Given the description of an element on the screen output the (x, y) to click on. 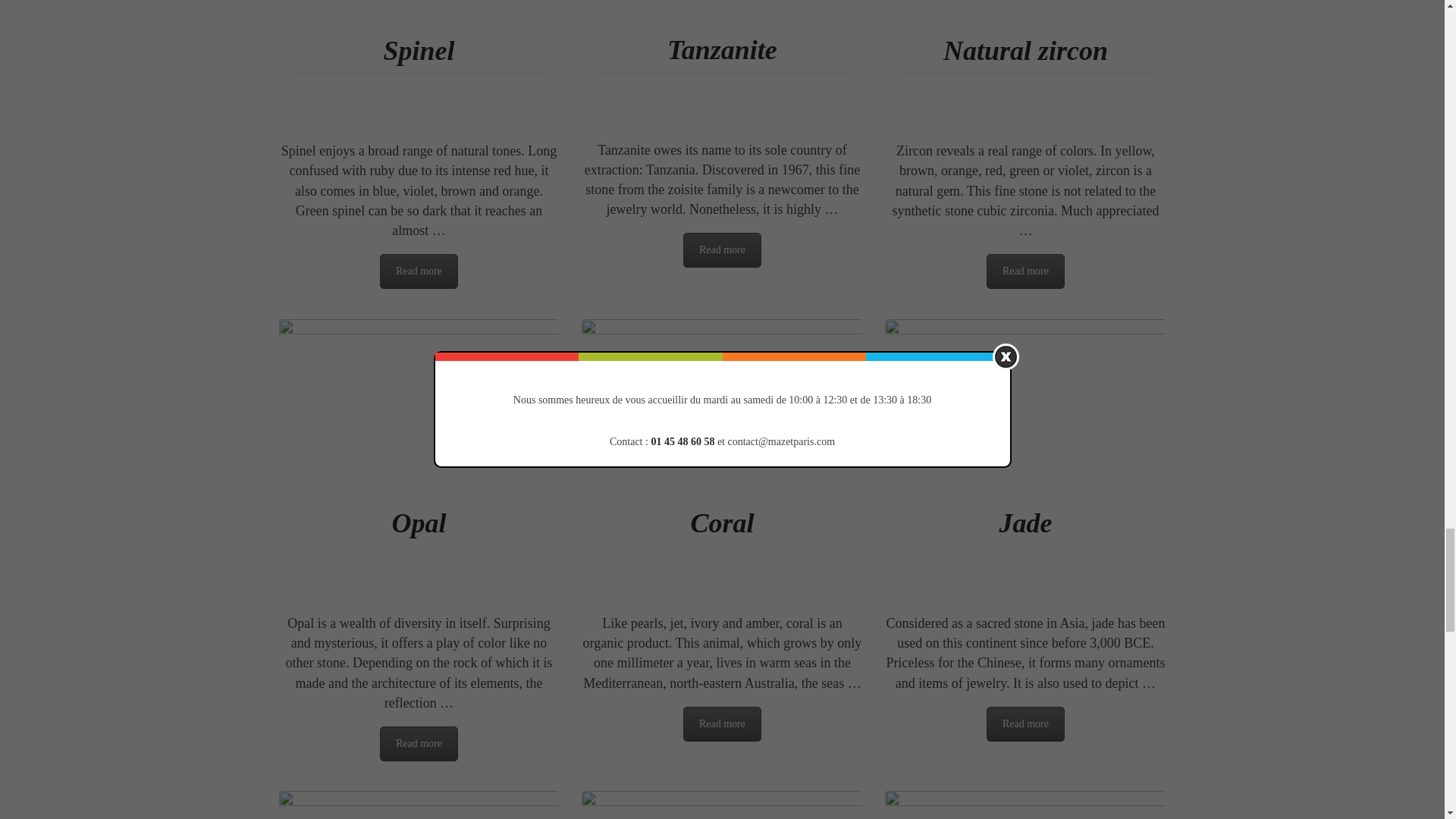
Lire la suite (419, 271)
